Given the description of an element on the screen output the (x, y) to click on. 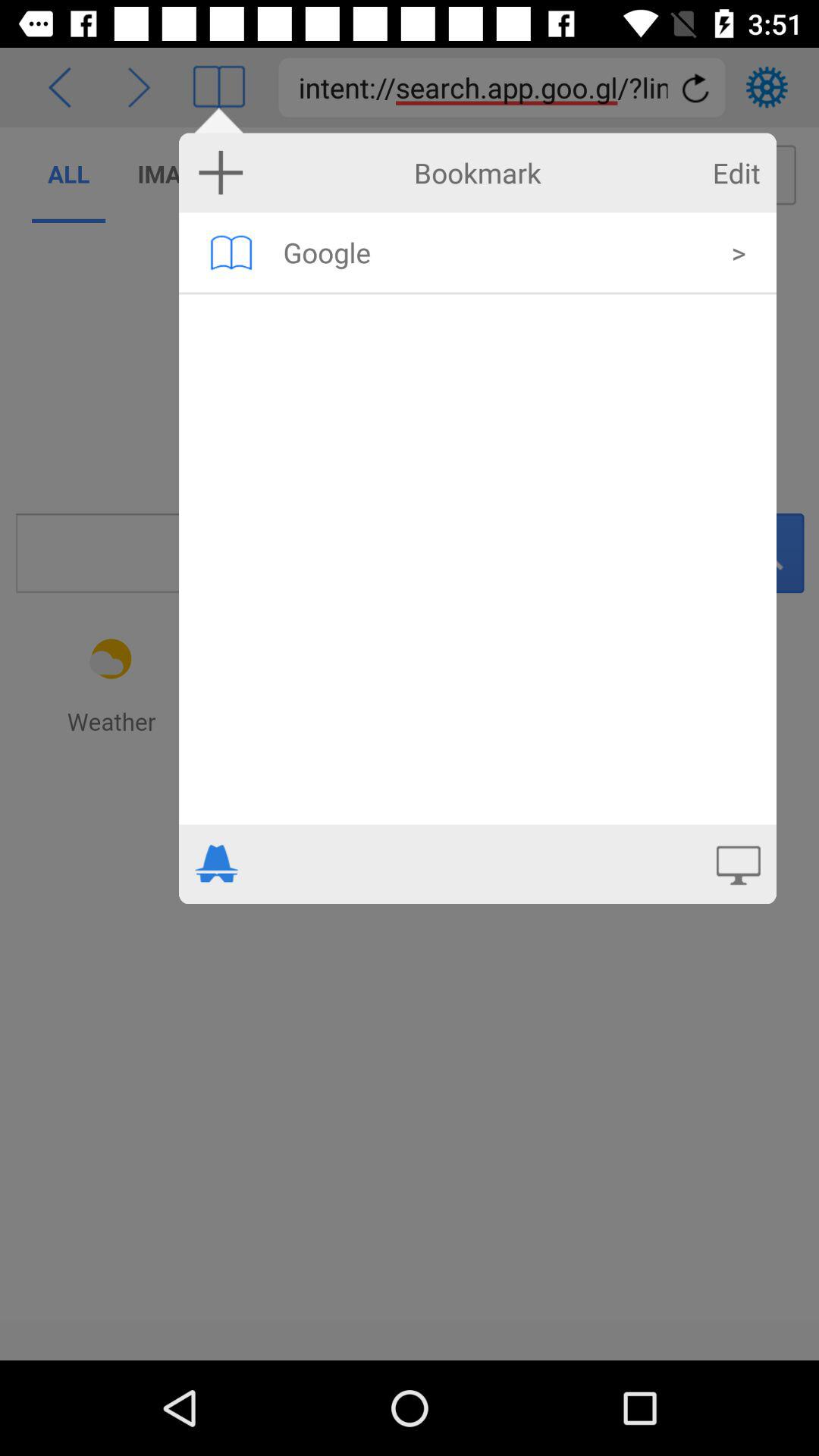
scroll to the > (738, 252)
